Given the description of an element on the screen output the (x, y) to click on. 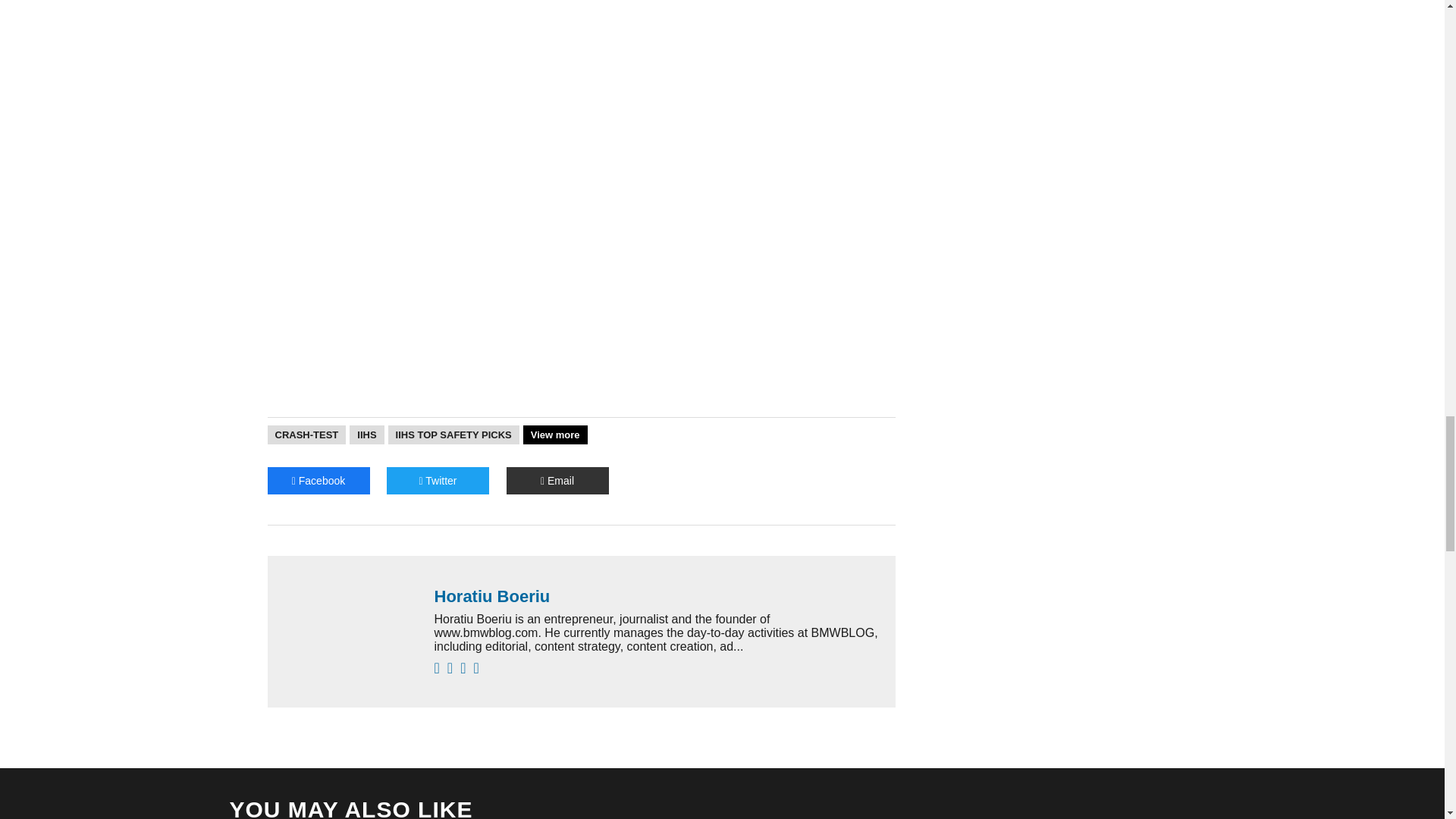
Twitter (438, 480)
Facebook (317, 480)
Horatiu Boeriu (656, 596)
